Given the description of an element on the screen output the (x, y) to click on. 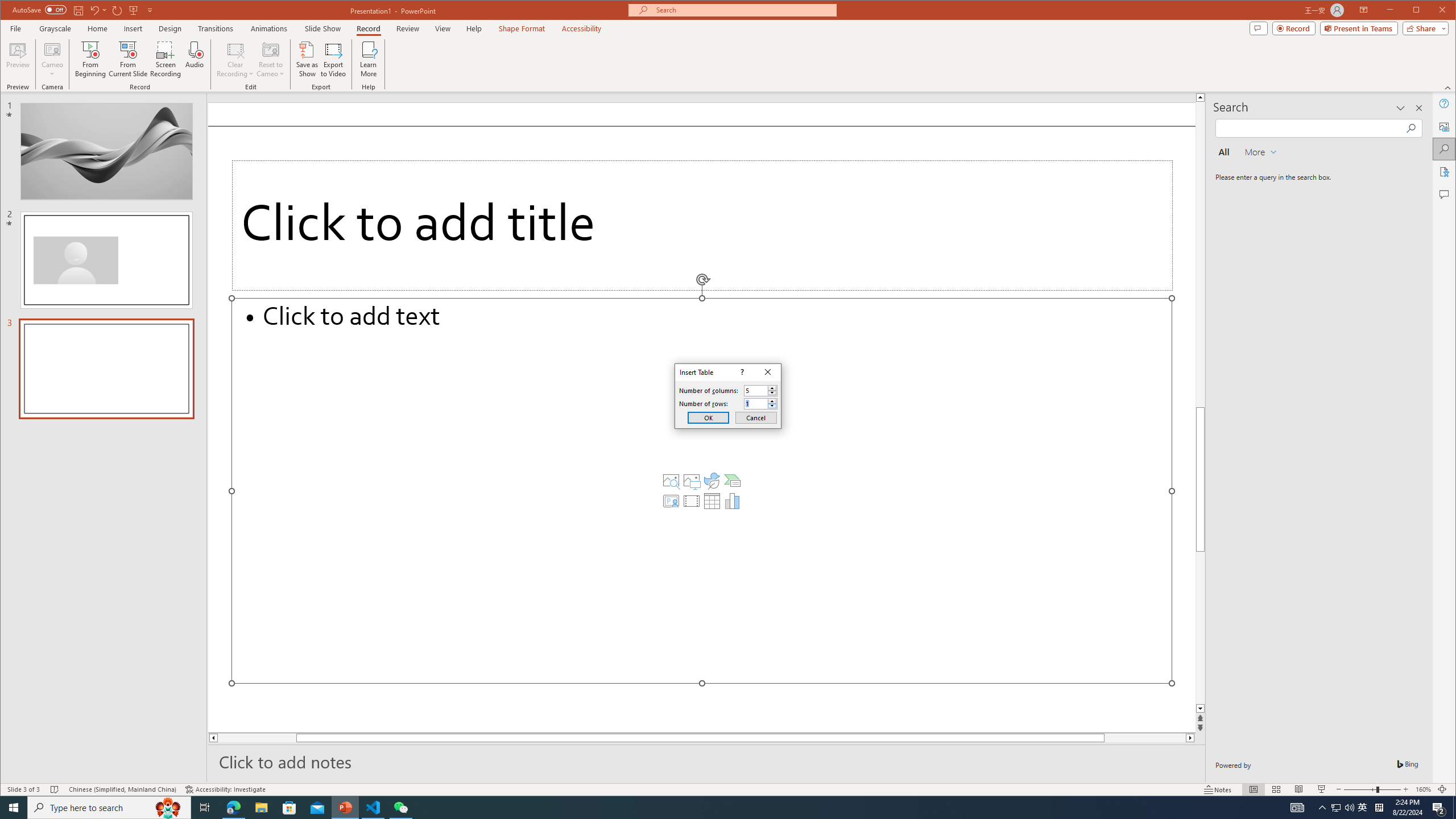
Number of columns (755, 390)
